Given the description of an element on the screen output the (x, y) to click on. 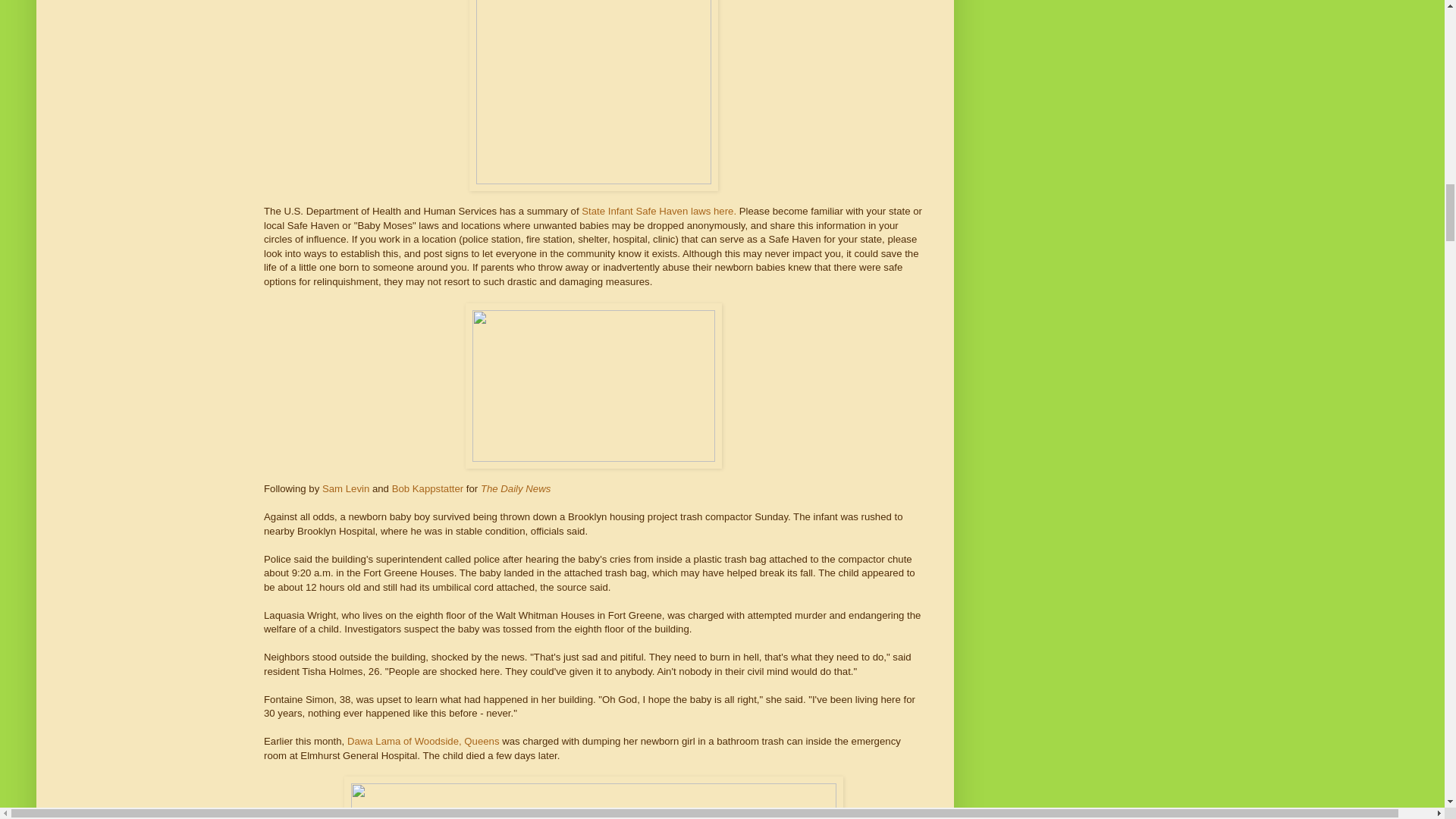
The Daily News (515, 488)
Bob Kappstatter (427, 488)
Sam Levin (345, 488)
State Infant Safe Haven laws here. (658, 211)
Dawa Lama of Woodside, Queens (423, 740)
